Given the description of an element on the screen output the (x, y) to click on. 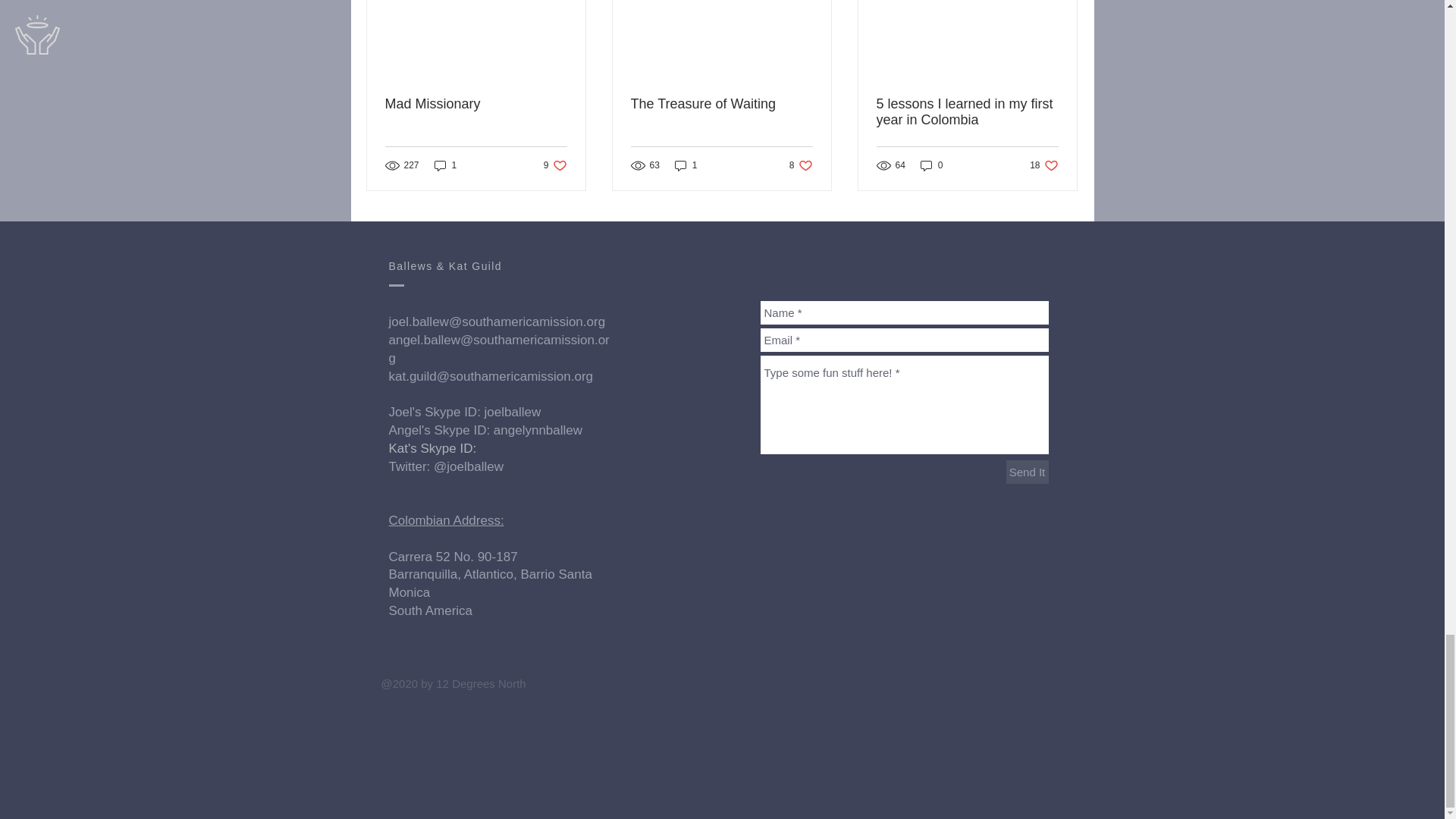
1 (555, 165)
Mad Missionary (445, 165)
The Treasure of Waiting (476, 104)
